Given the description of an element on the screen output the (x, y) to click on. 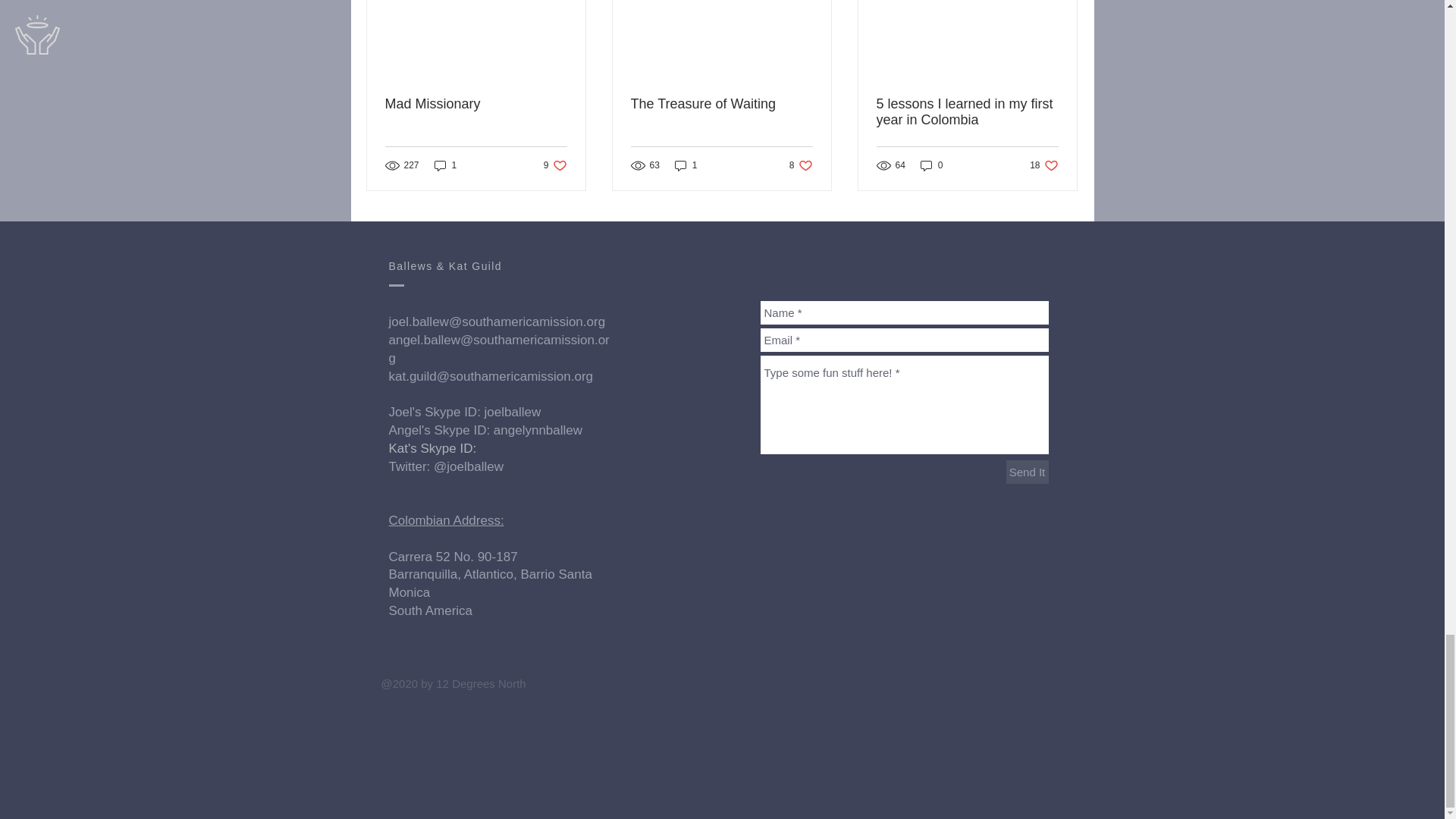
1 (555, 165)
Mad Missionary (445, 165)
The Treasure of Waiting (476, 104)
